Given the description of an element on the screen output the (x, y) to click on. 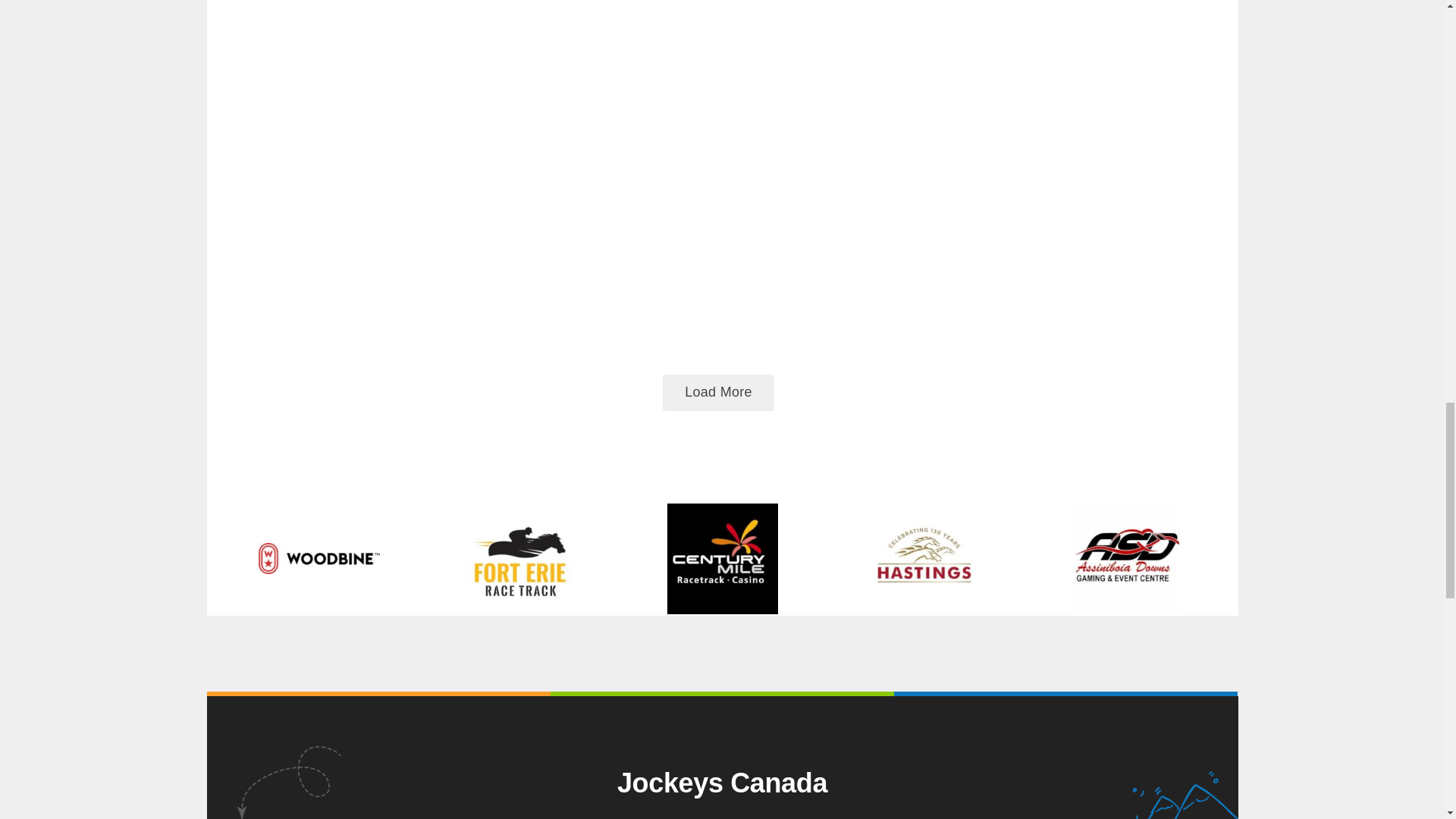
chris-tian-photography-005 (390, 64)
